Given the description of an element on the screen output the (x, y) to click on. 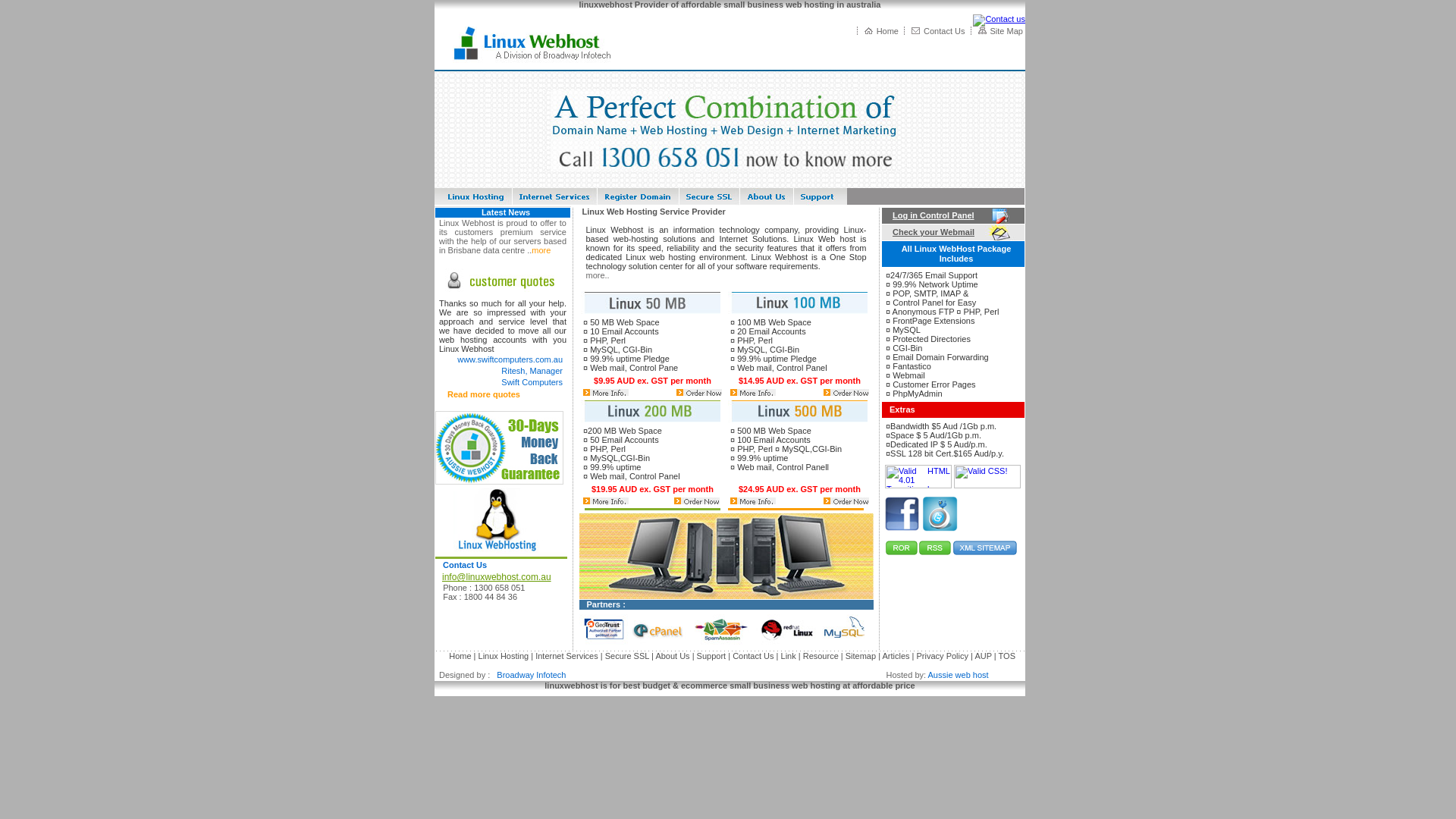
About Us Element type: text (672, 655)
Read more quotes Element type: text (482, 393)
Linux Hosting Element type: text (503, 655)
more.. Element type: text (596, 274)
Aussie web host Element type: text (958, 674)
Site Map Element type: text (1006, 30)
Home Element type: text (459, 655)
TOS Element type: text (1006, 655)
info@linuxwebhost.com.au Element type: text (493, 576)
Contact Us Element type: text (752, 655)
Support Element type: text (711, 655)
Log in Control Panel Element type: text (929, 214)
Resource Element type: text (821, 655)
Link | Element type: text (789, 655)
more Element type: text (540, 249)
Secure SSL Element type: text (627, 655)
Home Element type: text (887, 30)
Sitemap Element type: text (861, 655)
Check your Webmail Element type: text (929, 231)
Contact Us Element type: text (943, 30)
Contact Us Element type: text (464, 564)
AUP Element type: text (982, 655)
Privacy Policy Element type: text (942, 655)
Internet Services Element type: text (566, 655)
Articles Element type: text (896, 655)
Broadway Infotech Element type: text (529, 674)
